Given the description of an element on the screen output the (x, y) to click on. 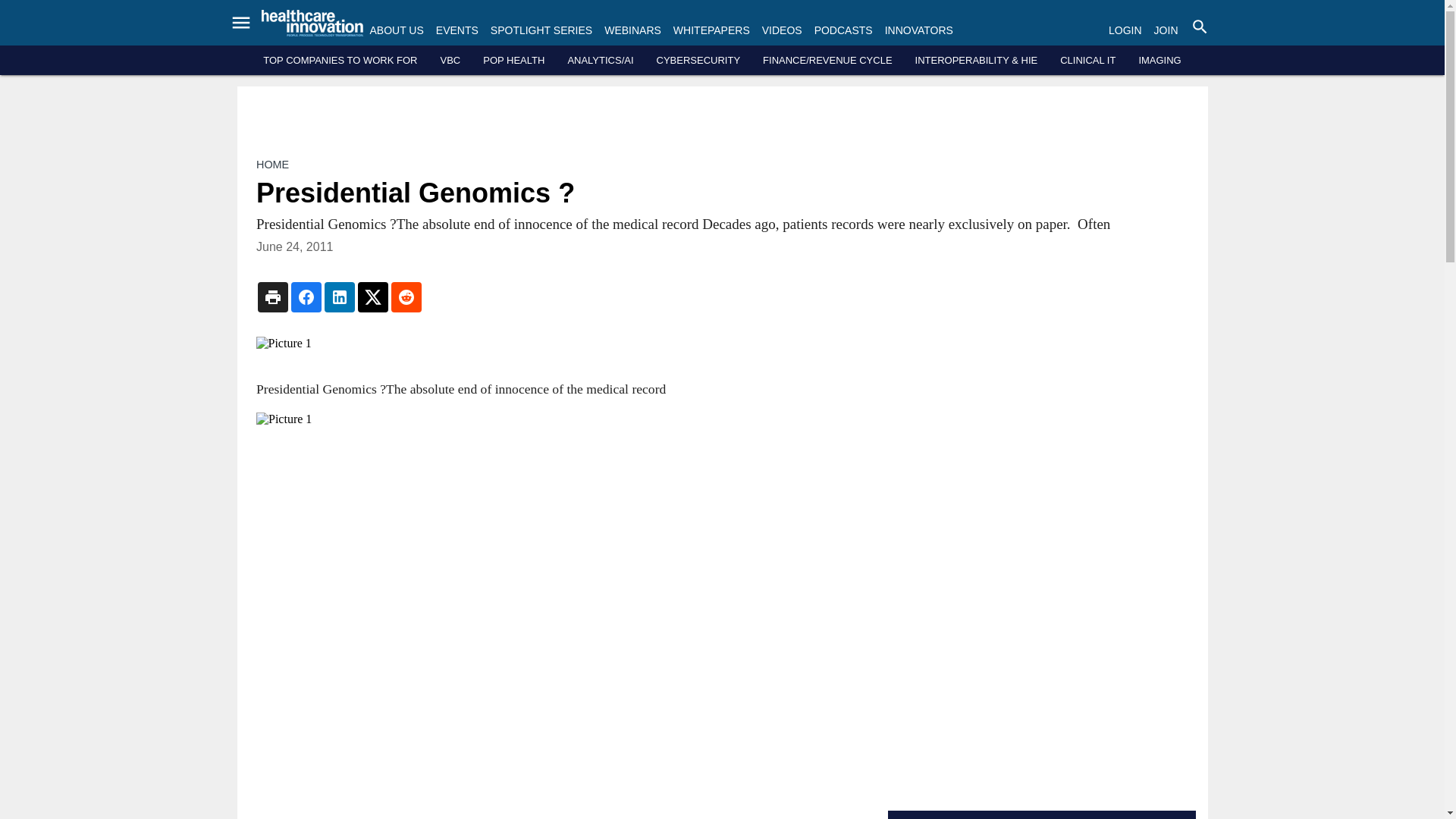
TOP COMPANIES TO WORK FOR (339, 60)
CLINICAL IT (1087, 60)
WEBINARS (632, 30)
VBC (449, 60)
EVENTS (457, 30)
INNOVATORS (919, 30)
JOIN (1165, 30)
SPOTLIGHT SERIES (541, 30)
IMAGING (1159, 60)
CYBERSECURITY (698, 60)
POP HEALTH (513, 60)
Picture 1 (560, 343)
ABOUT US (396, 30)
WHITEPAPERS (710, 30)
